Given the description of an element on the screen output the (x, y) to click on. 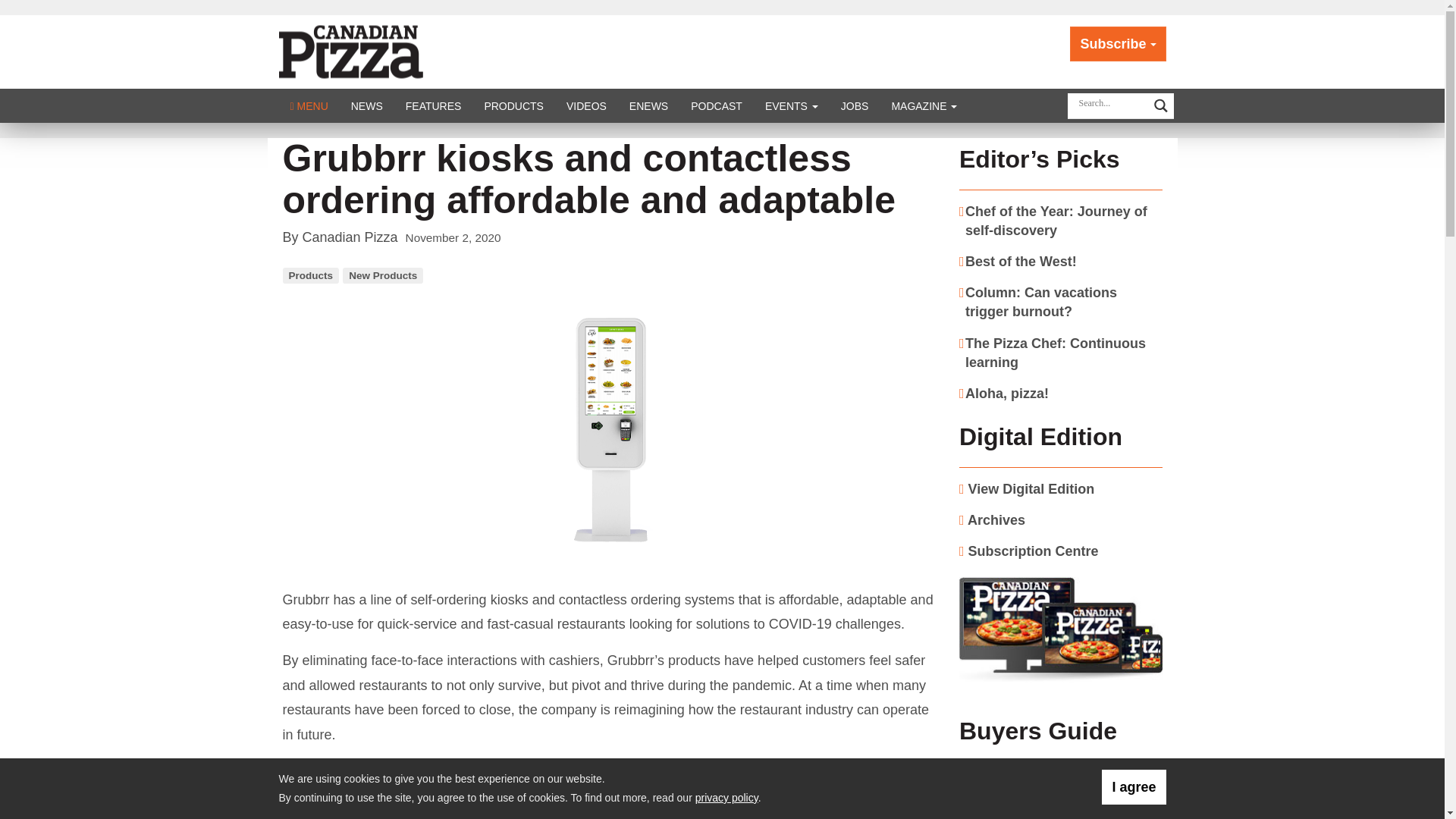
VIDEOS (585, 105)
ENEWS (648, 105)
MAGAZINE (923, 105)
Click to show site navigation (309, 105)
PODCAST (716, 105)
PRODUCTS (512, 105)
FEATURES (433, 105)
Canadian Pizza Magazine (368, 50)
MENU (309, 105)
JOBS (854, 105)
